Given the description of an element on the screen output the (x, y) to click on. 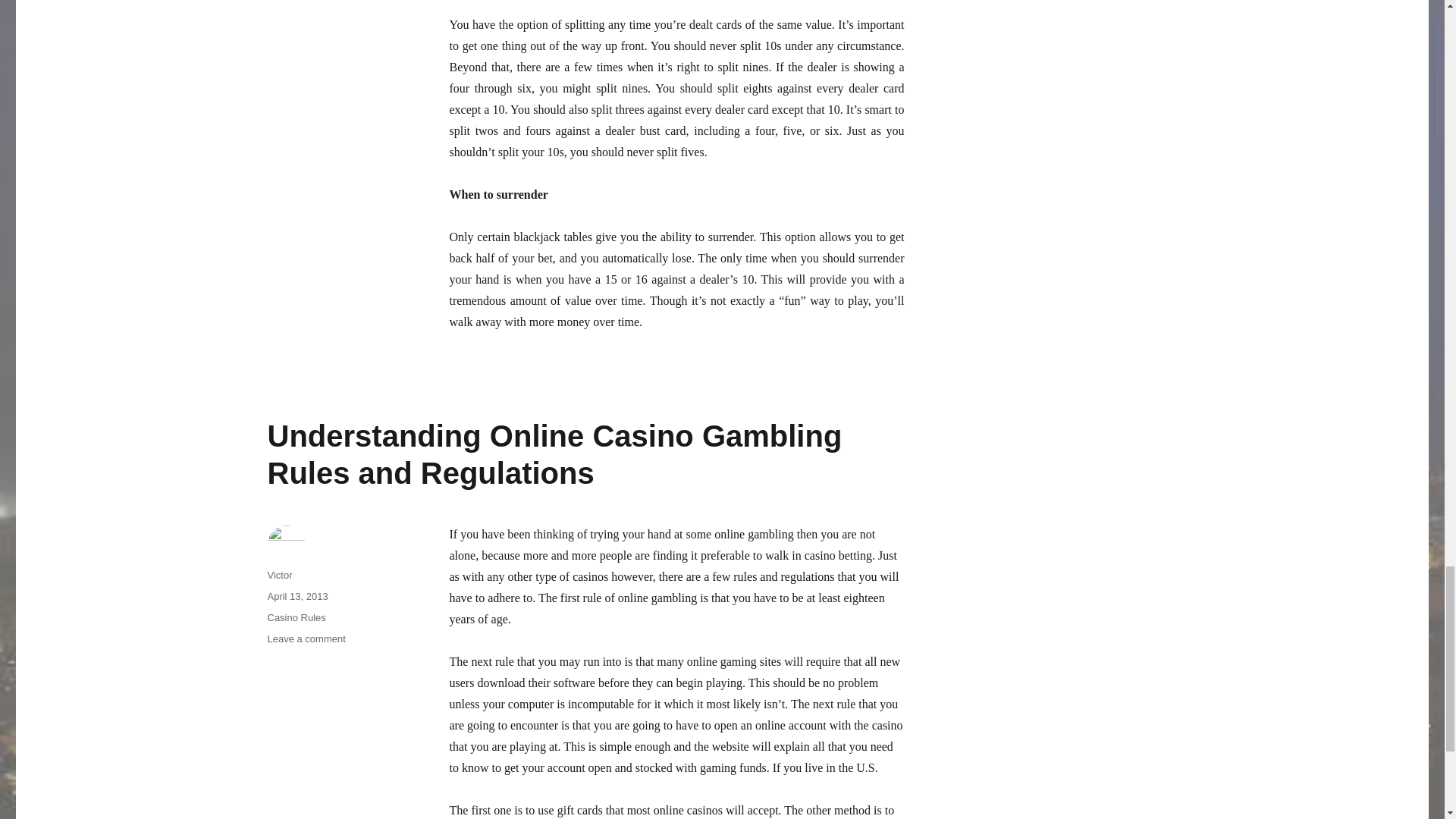
Understanding Online Casino Gambling Rules and Regulations (553, 454)
Victor (279, 574)
April 13, 2013 (296, 595)
Casino Rules (295, 617)
